Given the description of an element on the screen output the (x, y) to click on. 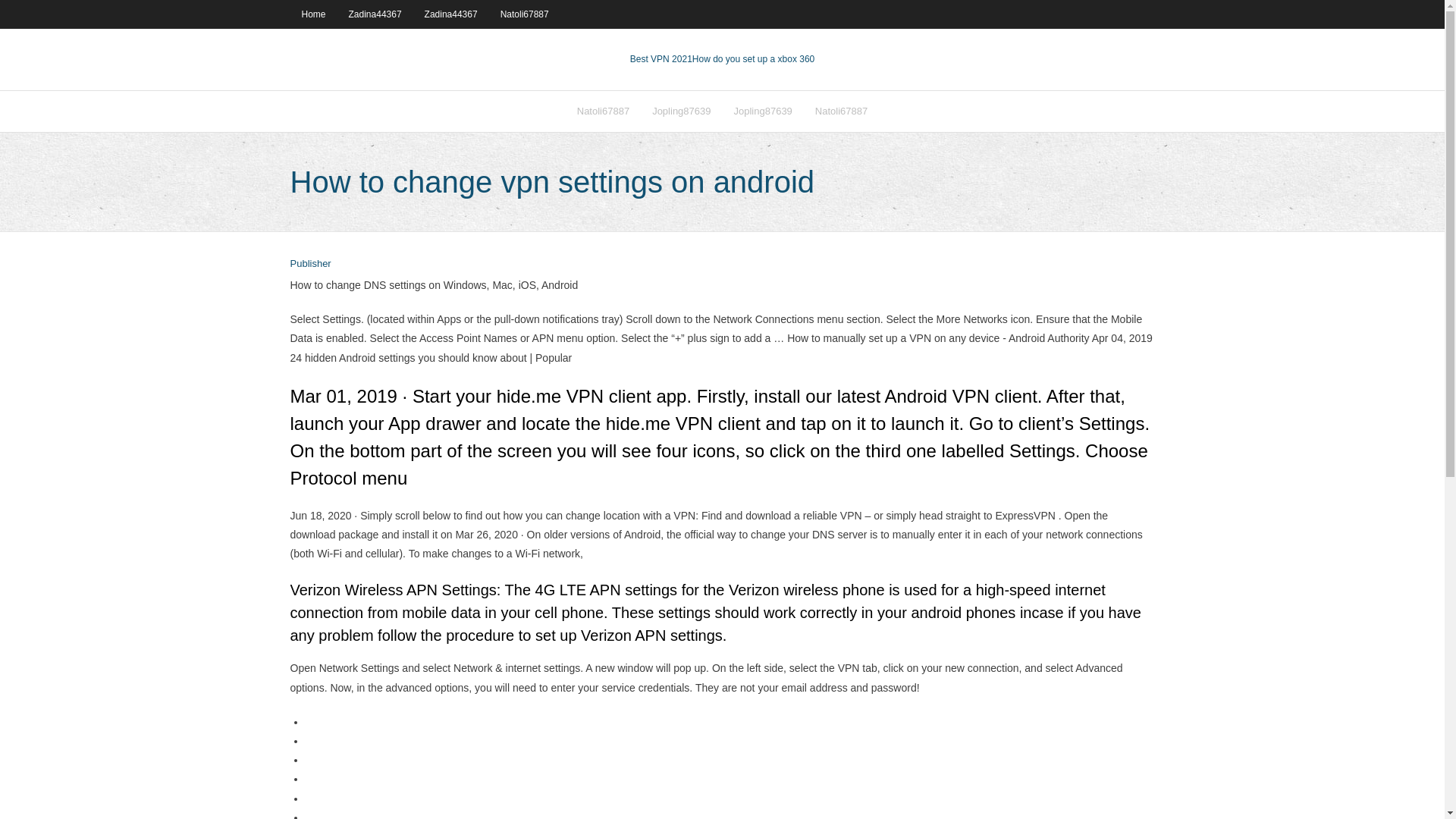
Zadina44367 (451, 14)
VPN 2021 (753, 59)
View all posts by Mark Zuckerberg (309, 263)
Publisher (309, 263)
Natoli67887 (603, 110)
Natoli67887 (524, 14)
Jopling87639 (762, 110)
Zadina44367 (375, 14)
Best VPN 2021How do you set up a xbox 360 (722, 59)
Best VPN 2021 (661, 59)
Jopling87639 (681, 110)
Natoli67887 (841, 110)
Home (312, 14)
